Given the description of an element on the screen output the (x, y) to click on. 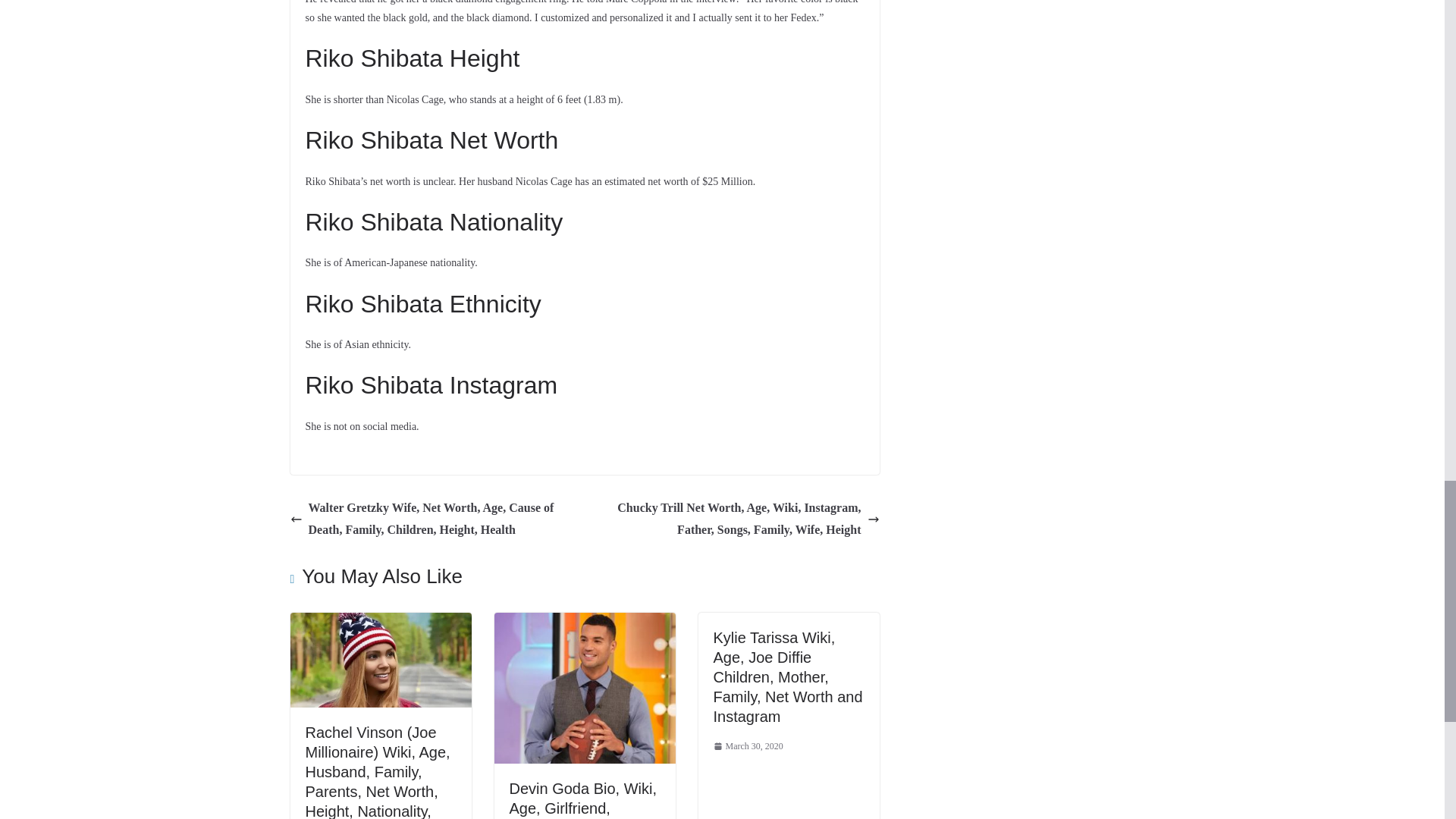
March 30, 2020 (748, 746)
